Given the description of an element on the screen output the (x, y) to click on. 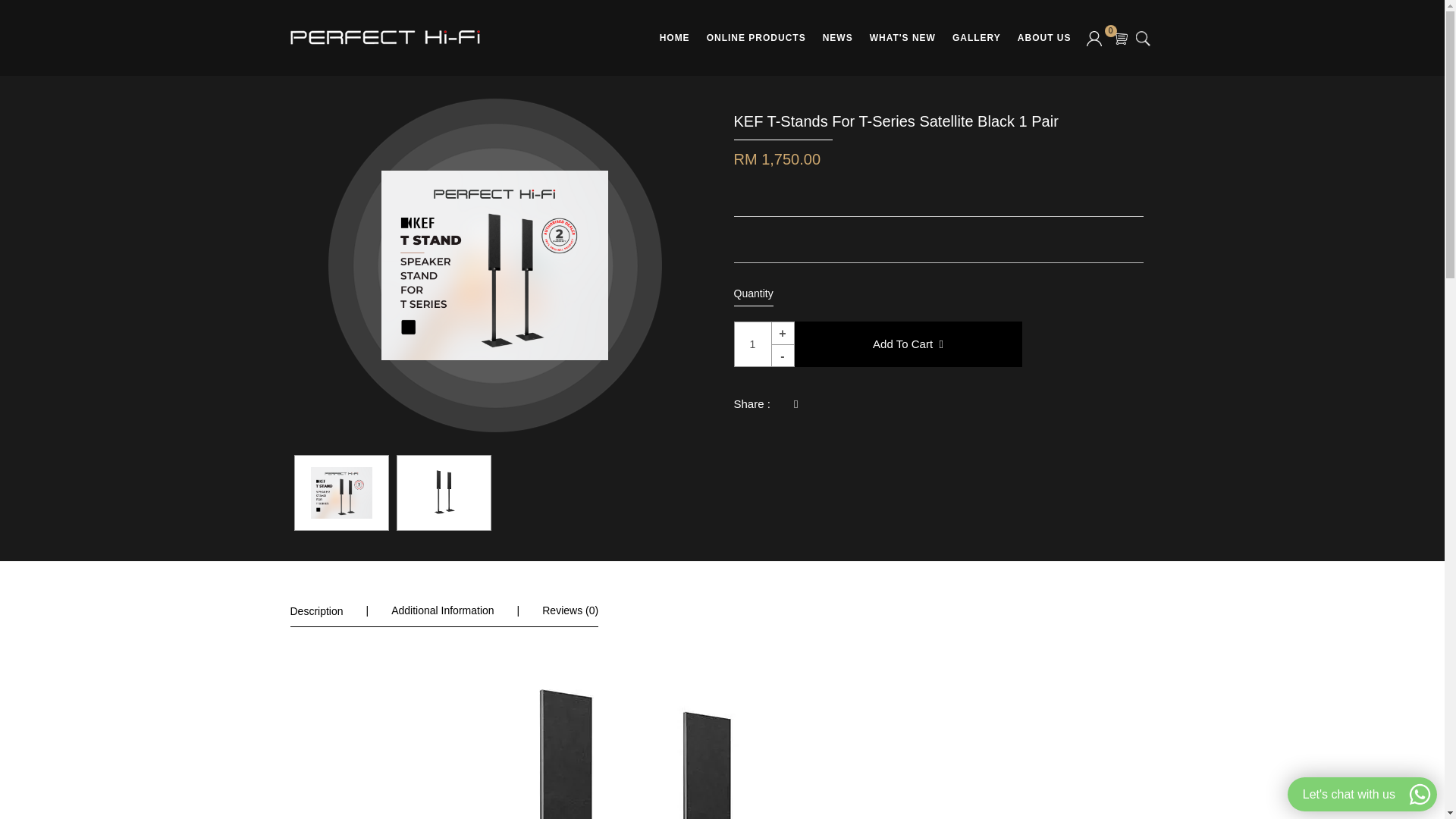
WHAT'S NEW (902, 38)
KEF T-Stands For T-Series Satellite Black 1 Pair (341, 492)
ABOUT US (1044, 38)
KEF T-Stands For T-Series Satellite Black 1 Pair (443, 492)
ONLINE PRODUCTS (755, 38)
Add To Cart   (908, 343)
- (782, 354)
0 (1120, 37)
Additional Information (442, 610)
Description (315, 611)
